Given the description of an element on the screen output the (x, y) to click on. 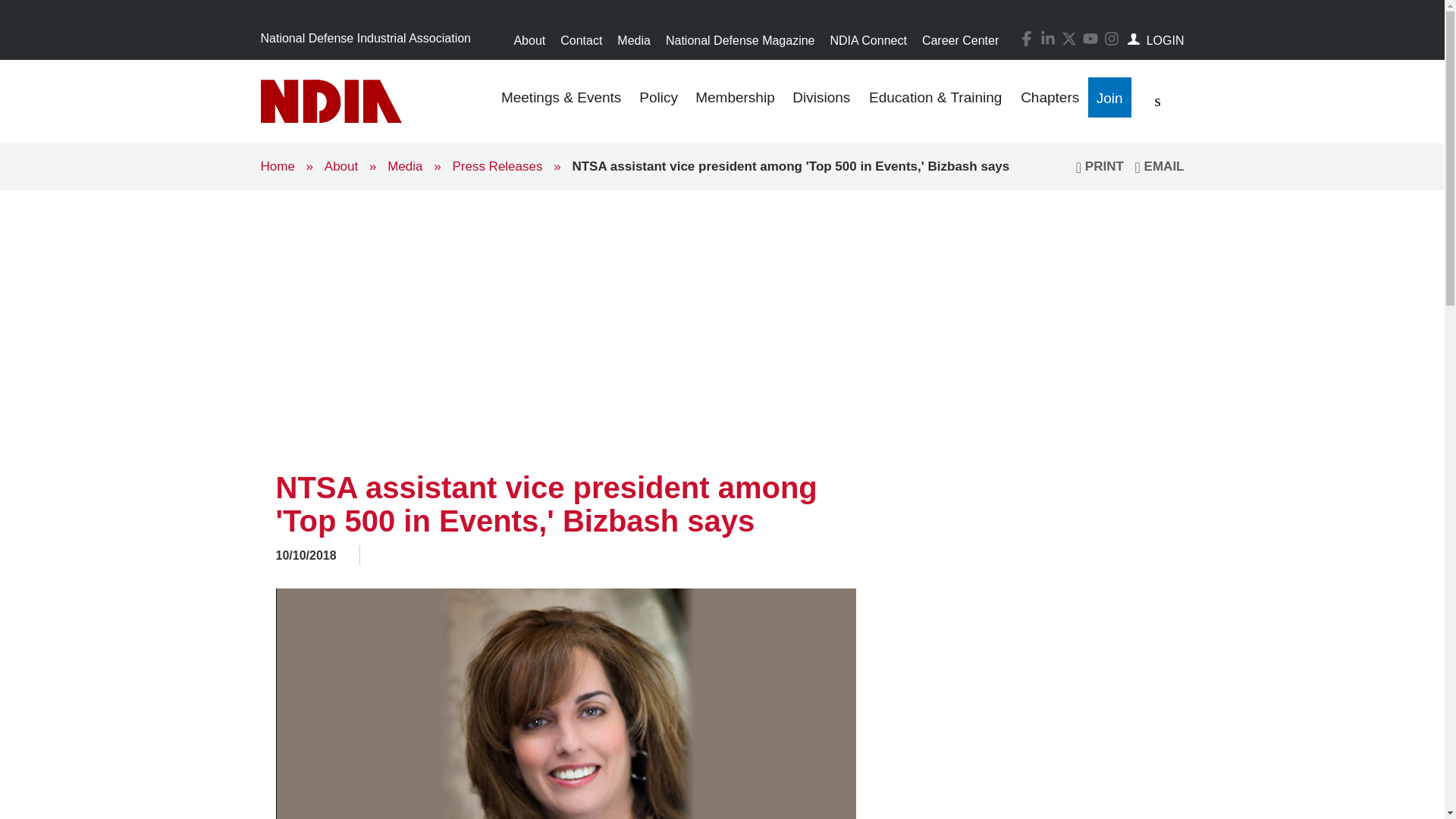
Career Center (960, 40)
Contact (581, 40)
Facebook (1026, 38)
YouTube (1090, 38)
Policy (657, 101)
YouTube (1087, 37)
Instagram (1109, 37)
Facebook (1023, 37)
X (1069, 38)
Instagram (1111, 38)
National Defense Magazine (740, 40)
Twitter (1067, 37)
LinkedIn (1045, 37)
Media (634, 40)
